Given the description of an element on the screen output the (x, y) to click on. 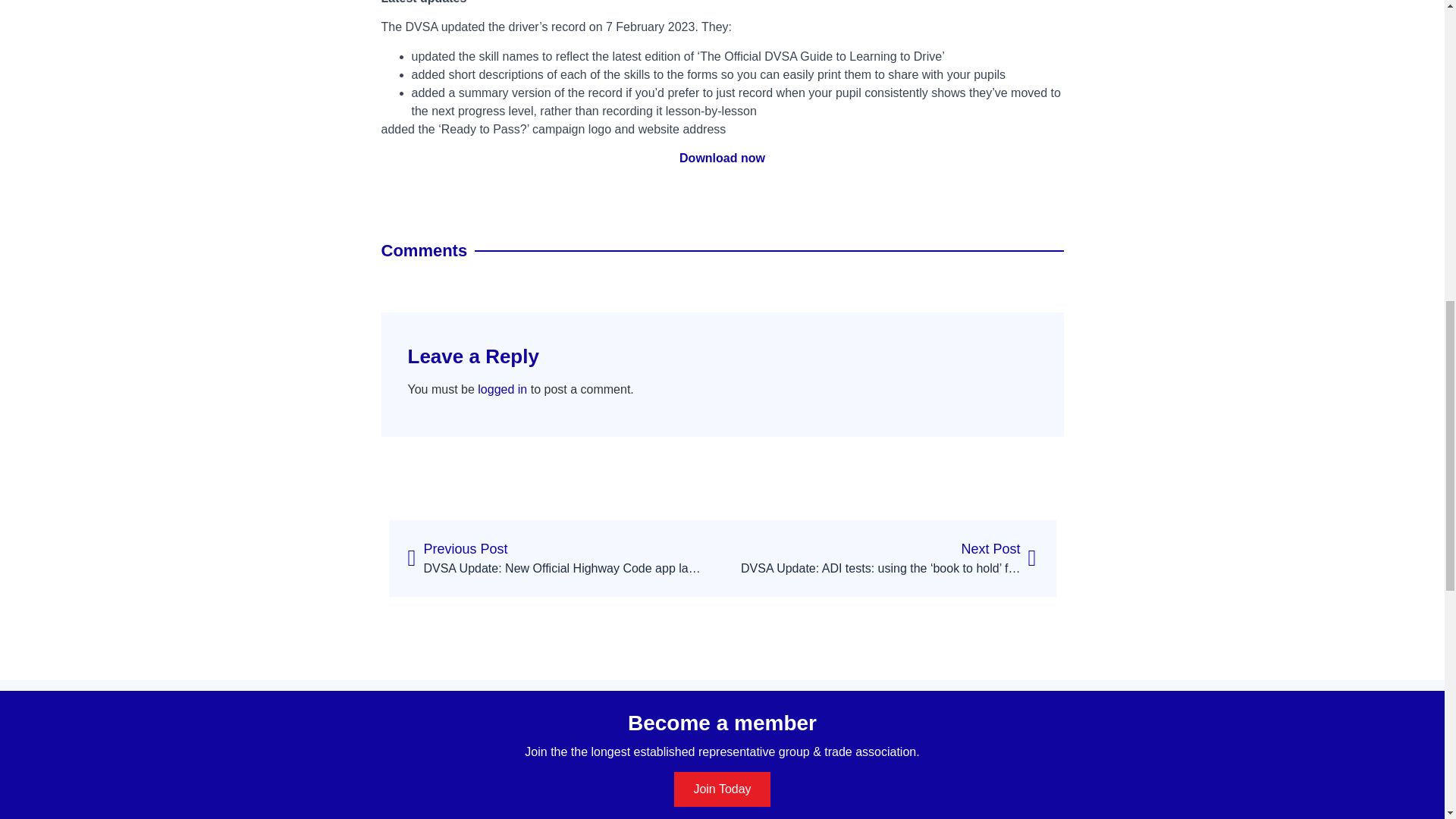
logged in (502, 389)
Download now (722, 157)
